Given the description of an element on the screen output the (x, y) to click on. 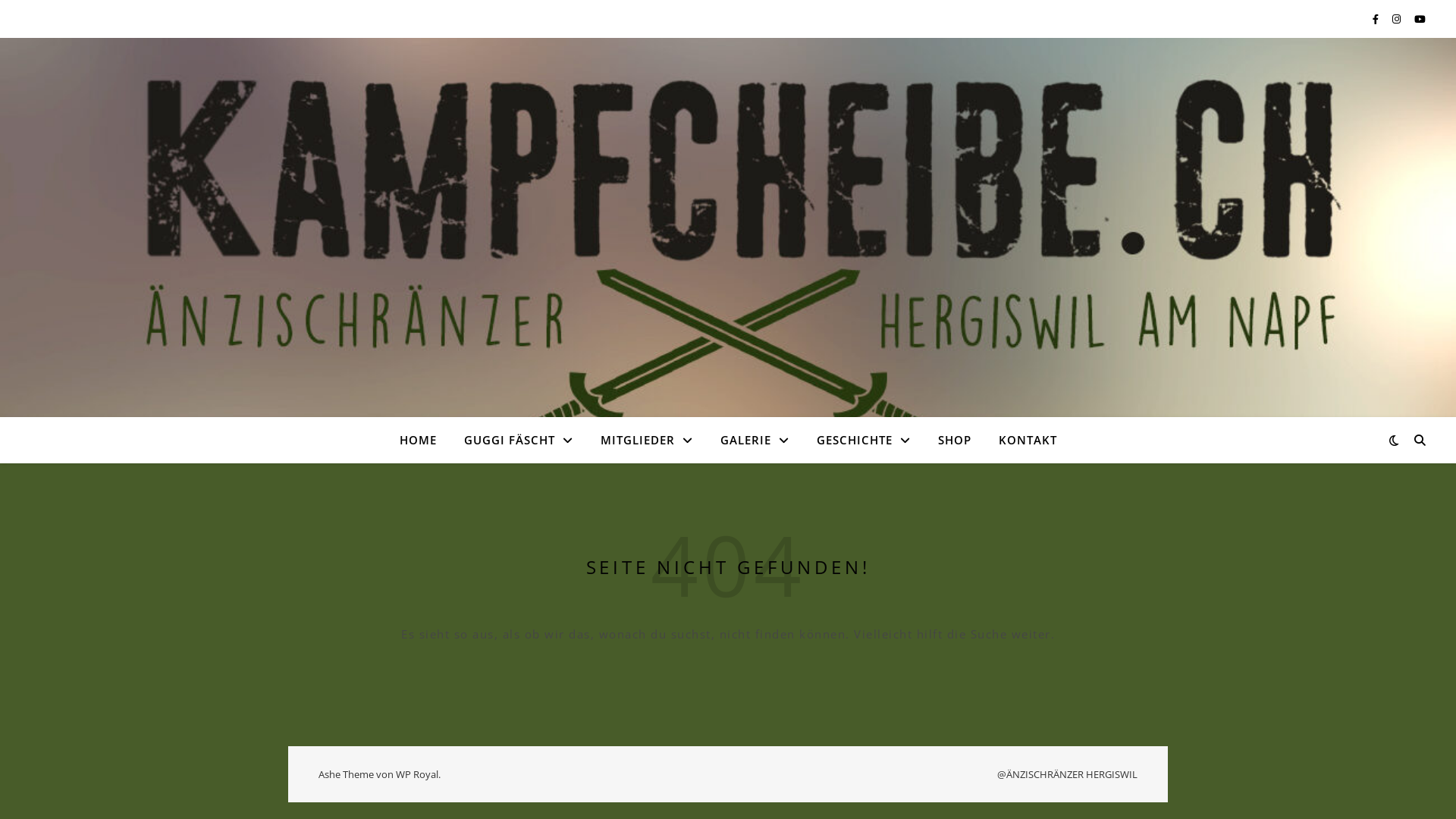
KONTAKT Element type: text (1020, 439)
GALERIE Element type: text (754, 440)
HOME Element type: text (423, 439)
GESCHICHTE Element type: text (862, 440)
WP Royal Element type: text (416, 774)
SHOP Element type: text (953, 439)
MITGLIEDER Element type: text (646, 440)
